Given the description of an element on the screen output the (x, y) to click on. 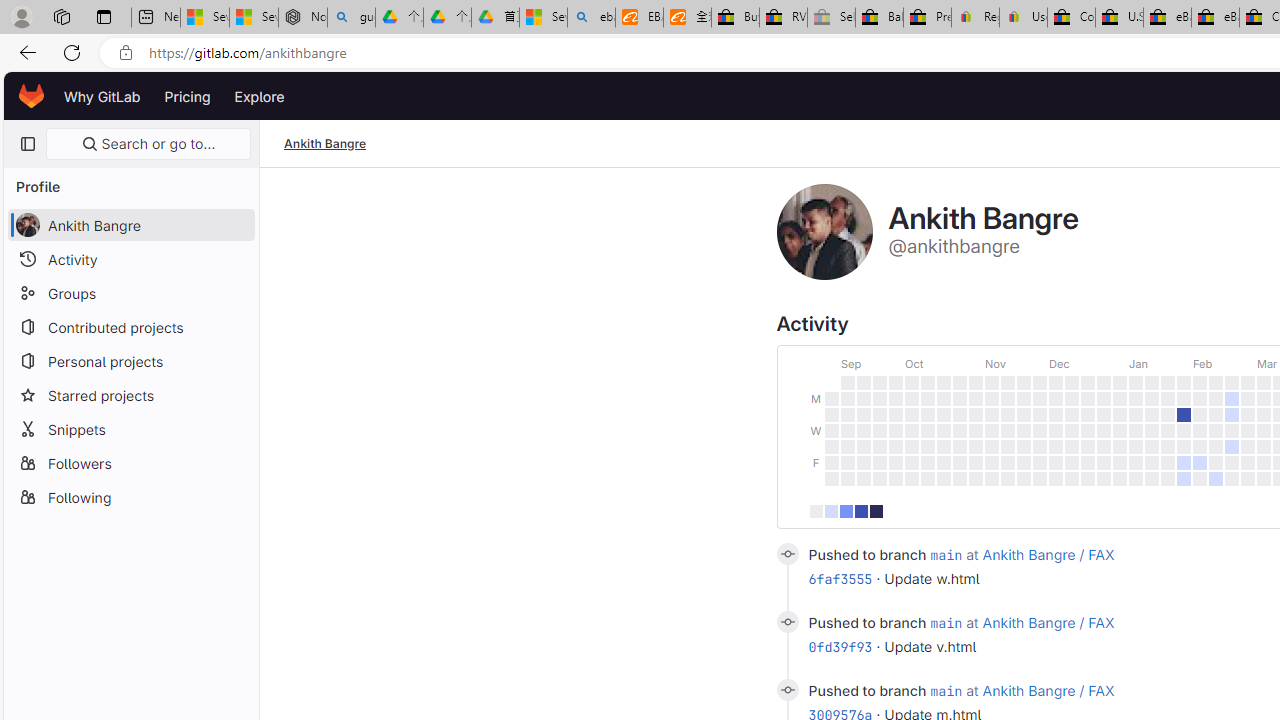
Ankith Bangre (325, 143)
User profile picture (823, 232)
Personal projects (130, 360)
